Given the description of an element on the screen output the (x, y) to click on. 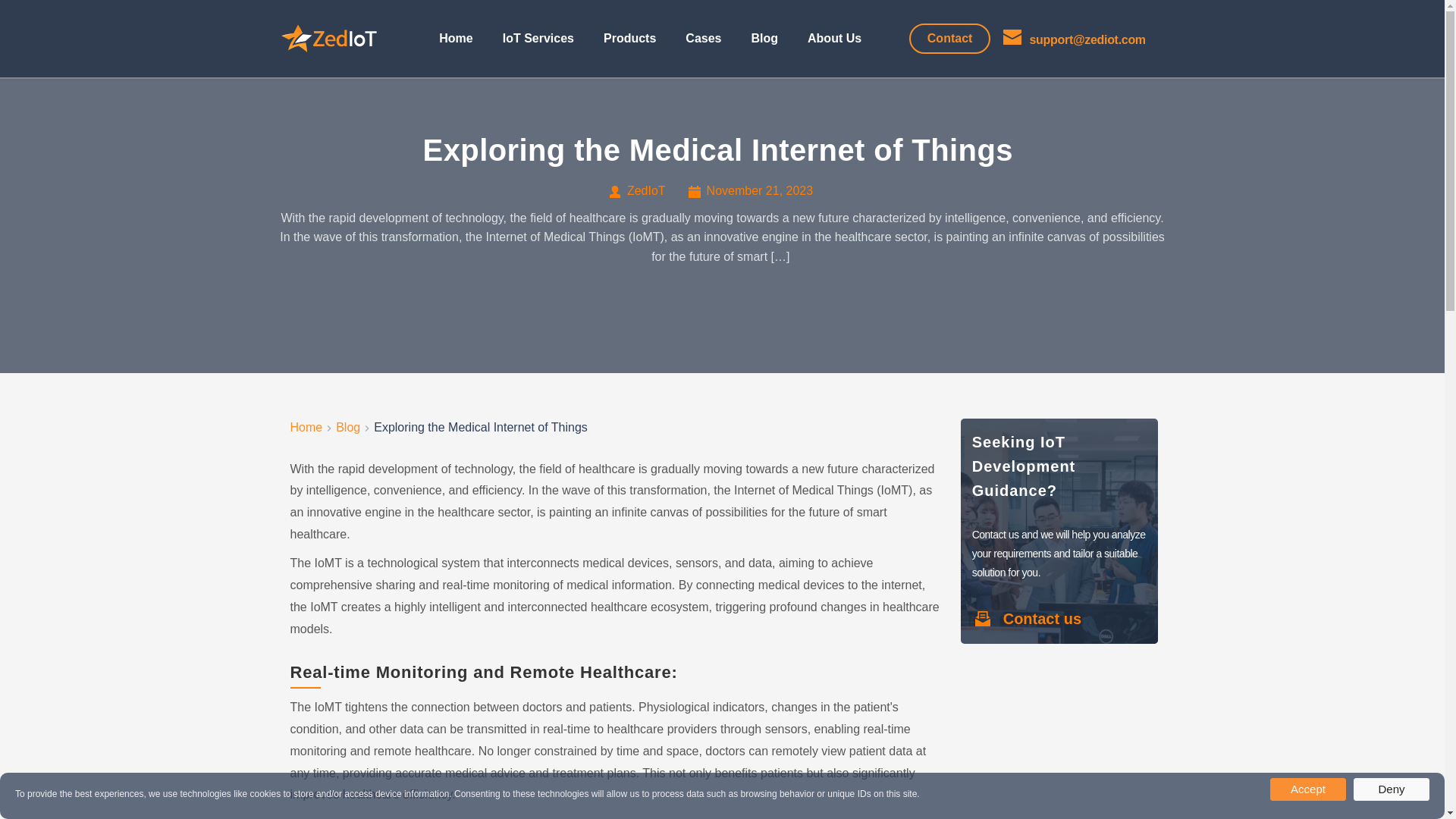
Exploring the Medical Internet of Things 2 (328, 39)
